Given the description of an element on the screen output the (x, y) to click on. 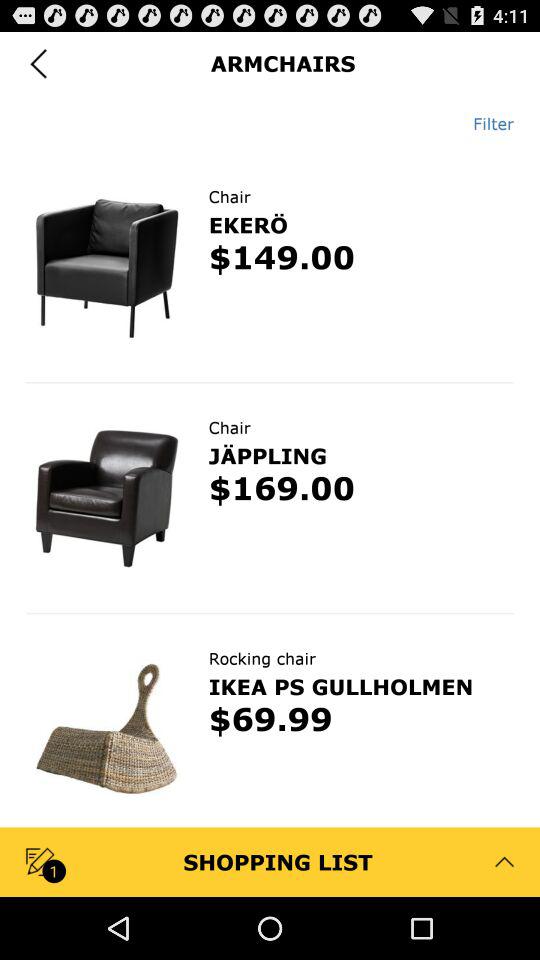
select icon above $69.99 item (340, 686)
